Given the description of an element on the screen output the (x, y) to click on. 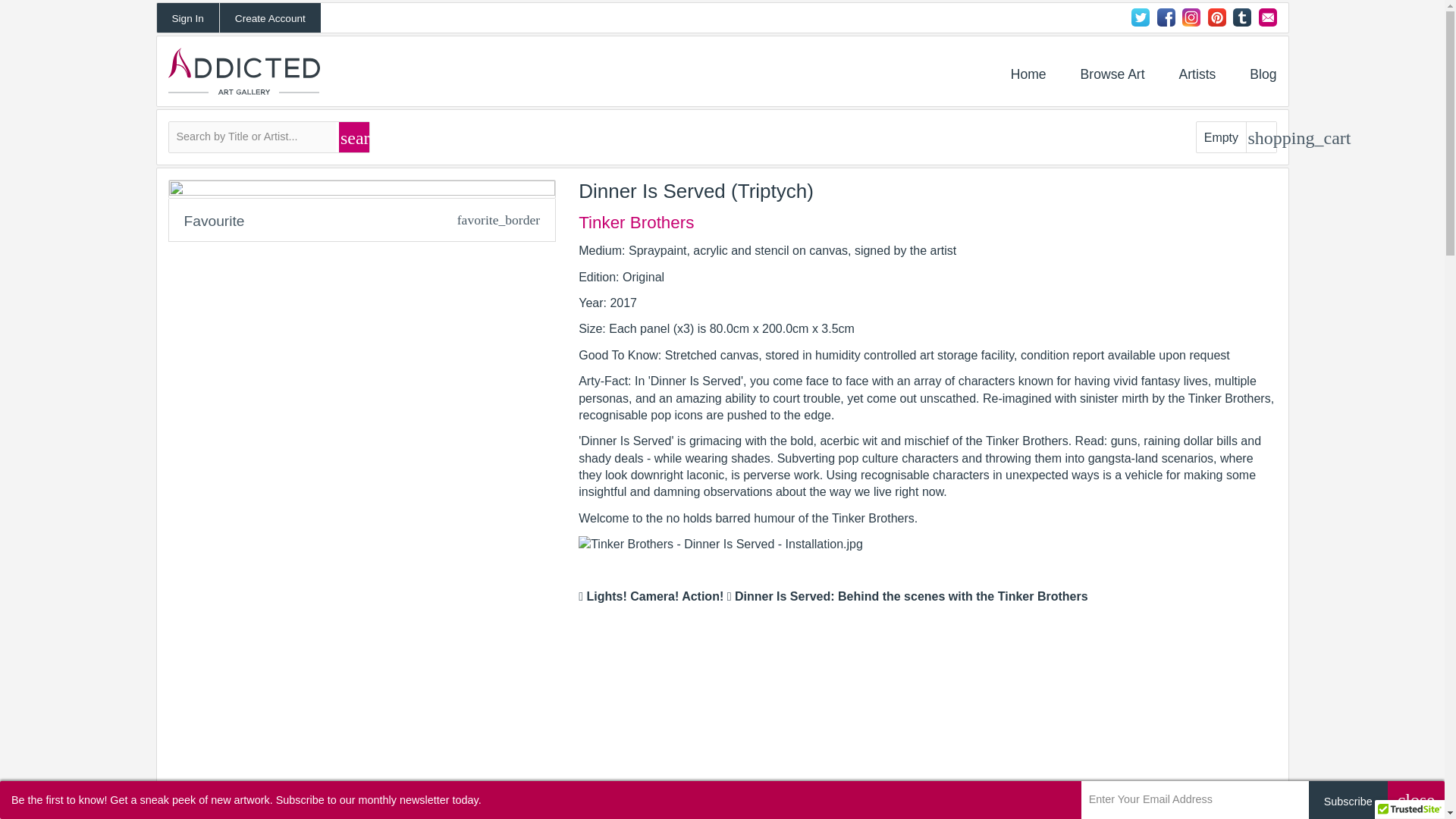
Tumblr (1241, 17)
Create Account (269, 17)
Home (1028, 74)
Instagram (1190, 17)
Artists (1197, 74)
Twitter (1140, 17)
Pinterest (1216, 17)
Subscribe (1347, 800)
Facebook (1165, 17)
Contact (1267, 17)
Tinker Brothers (636, 222)
Sign In (186, 17)
Browse Art (1112, 74)
Blog (1262, 74)
